Given the description of an element on the screen output the (x, y) to click on. 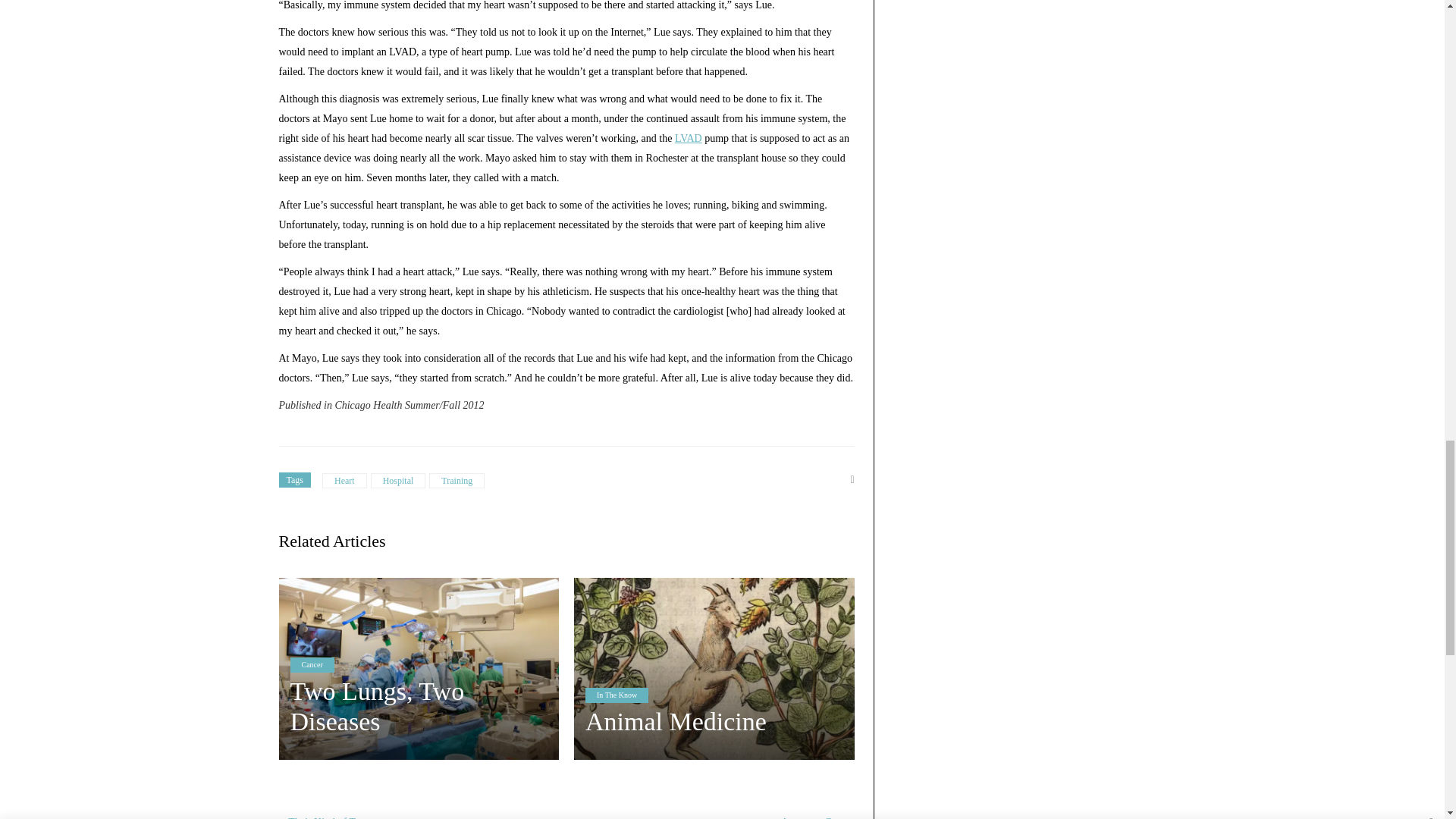
Hospital (398, 480)
Heart (343, 480)
Training (456, 480)
